Given the description of an element on the screen output the (x, y) to click on. 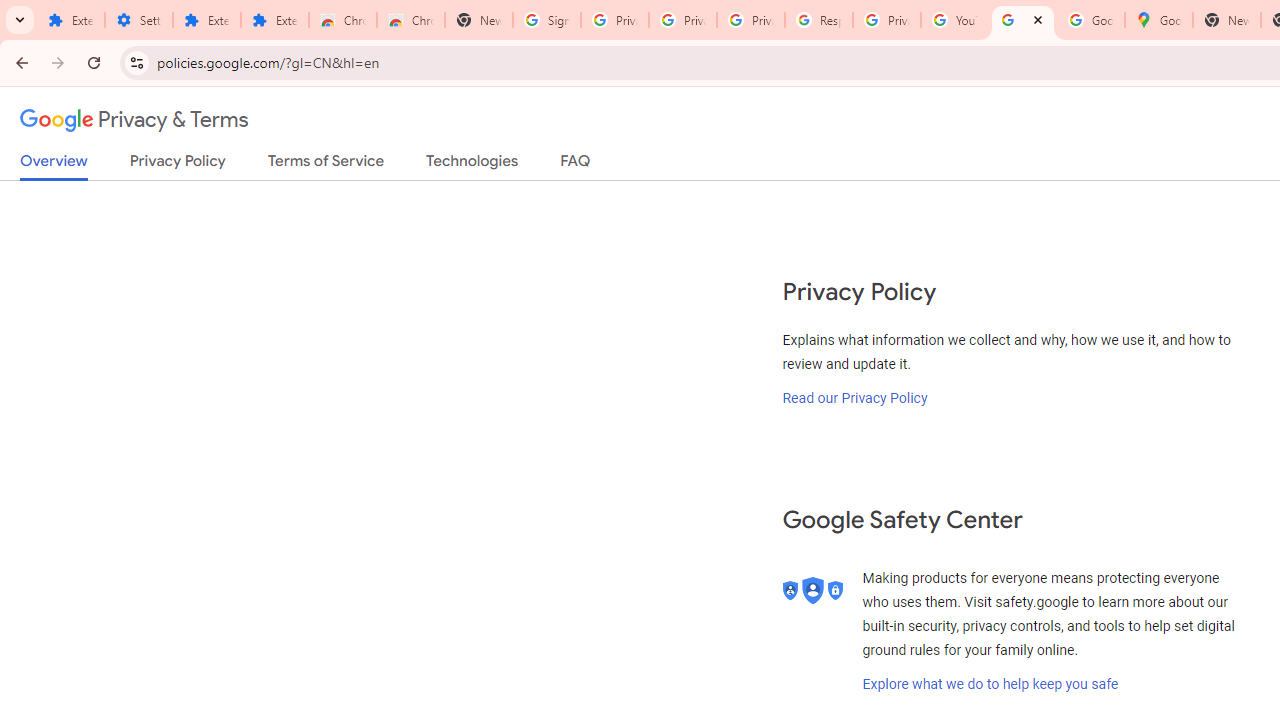
Sign in - Google Accounts (547, 20)
Privacy & Terms (134, 120)
Terms of Service (326, 165)
Settings (138, 20)
Chrome Web Store (342, 20)
Extensions (274, 20)
Privacy Policy (177, 165)
Read our Privacy Policy (855, 397)
Extensions (70, 20)
New Tab (1226, 20)
Technologies (472, 165)
